Given the description of an element on the screen output the (x, y) to click on. 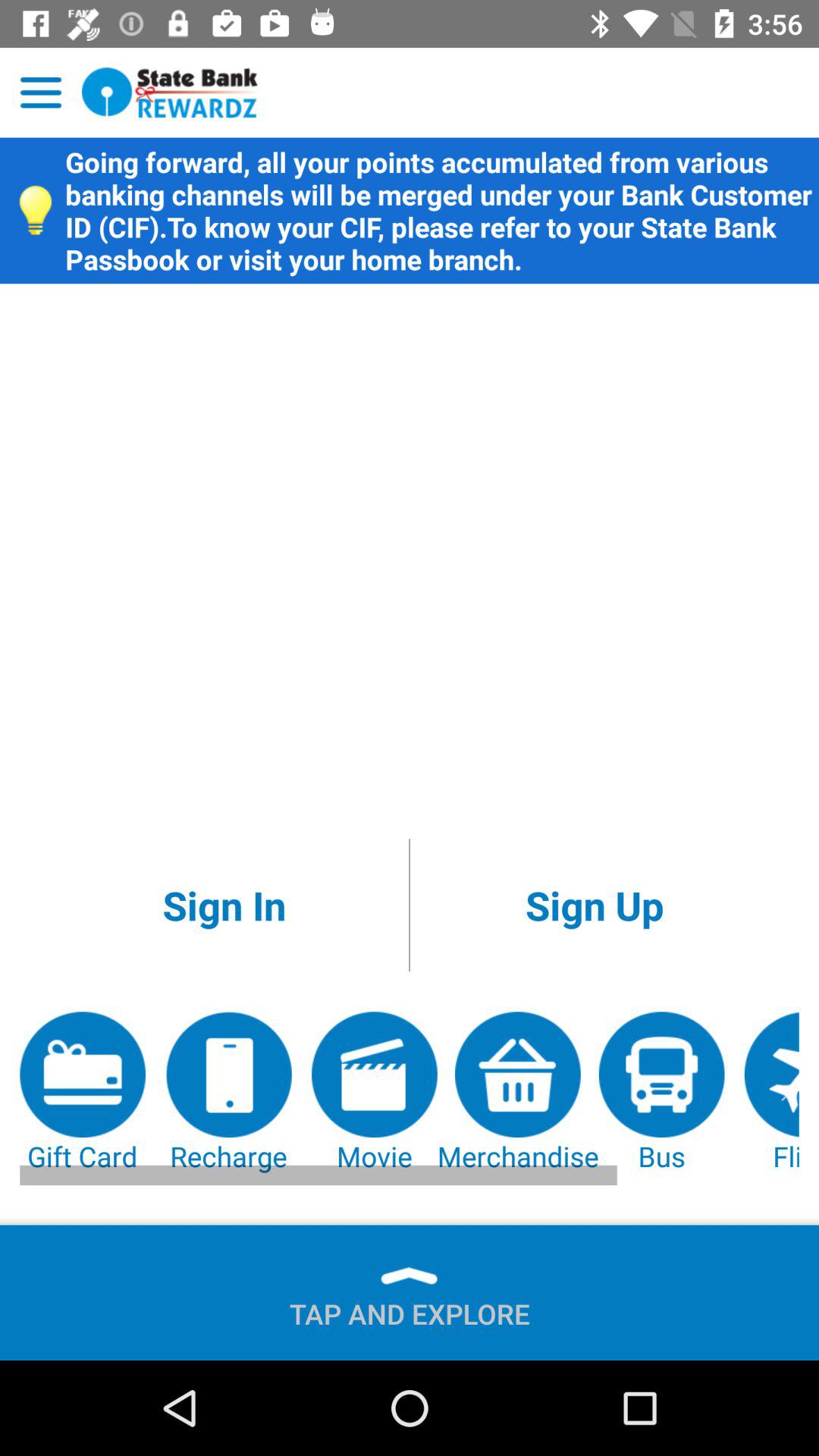
launch item next to the movie item (228, 1093)
